Given the description of an element on the screen output the (x, y) to click on. 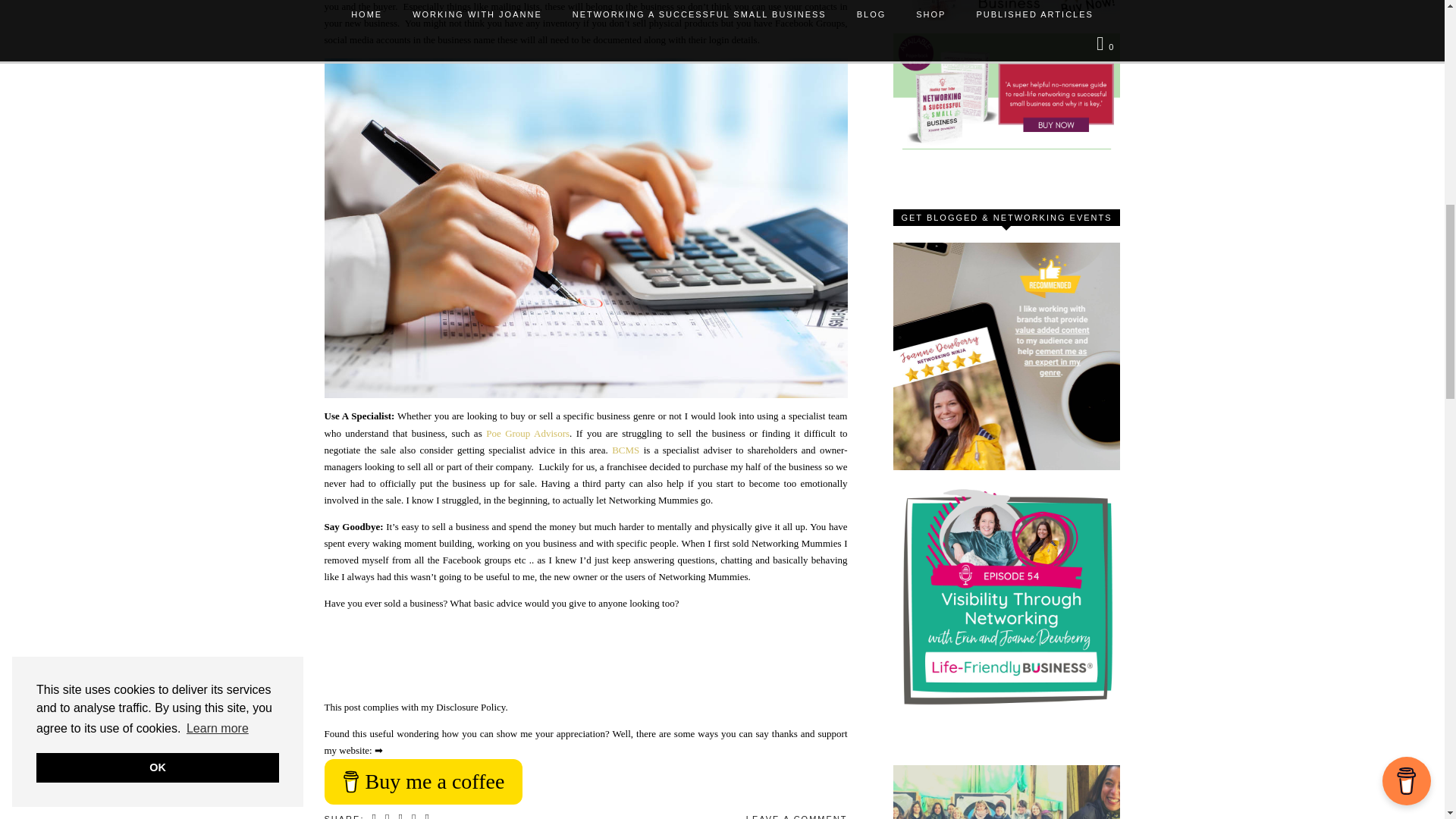
Share on Pinterest (413, 815)
Share via email (374, 815)
LEAVE A COMMENT (796, 816)
Buy me a coffee (423, 781)
BCMS (625, 449)
Poe Group Advisors (527, 432)
Share on Twitter (400, 815)
Share on linkedin (426, 815)
Share on Facebook (387, 815)
